Given the description of an element on the screen output the (x, y) to click on. 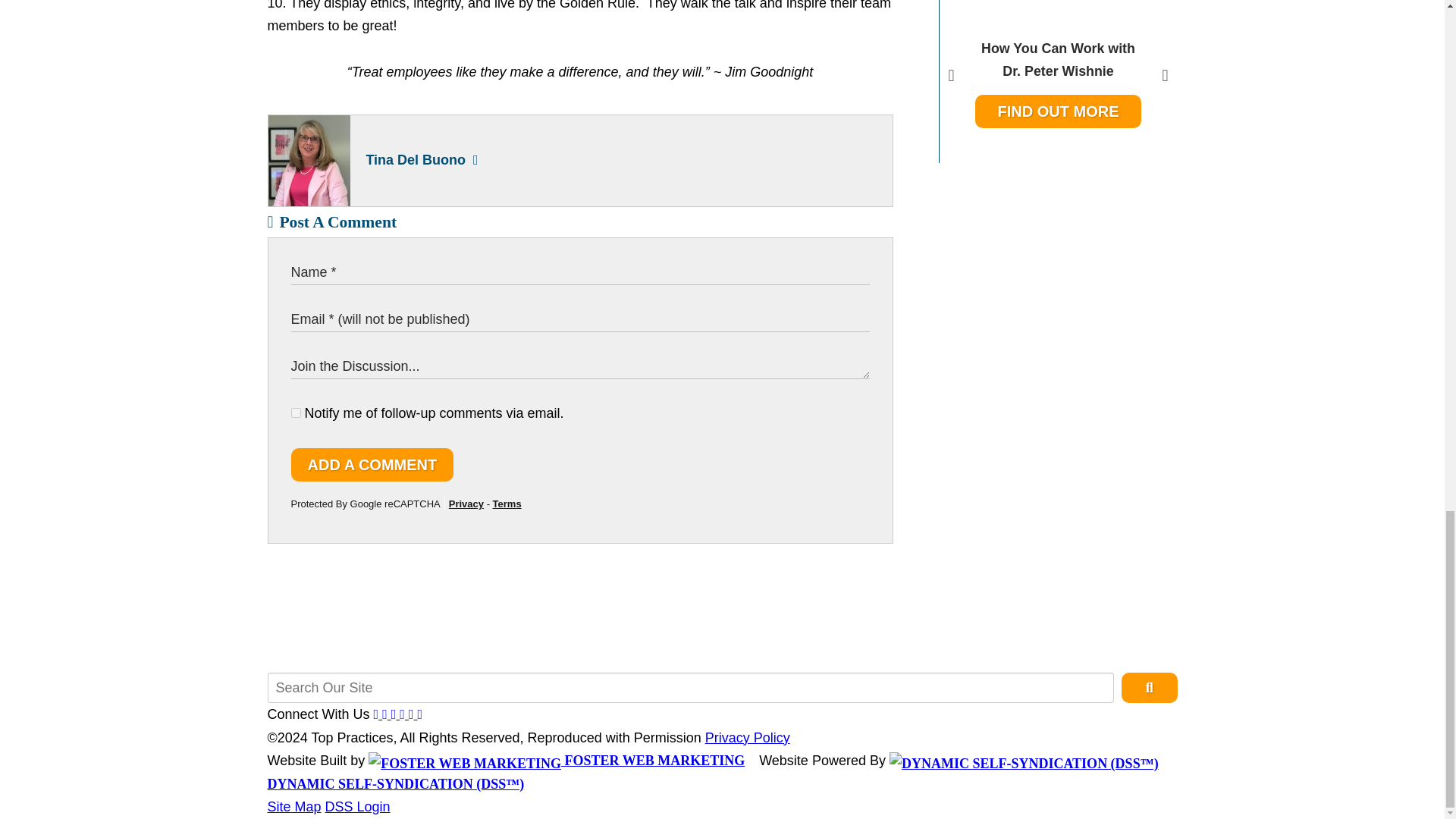
1 (296, 412)
Search (1058, 81)
